Given the description of an element on the screen output the (x, y) to click on. 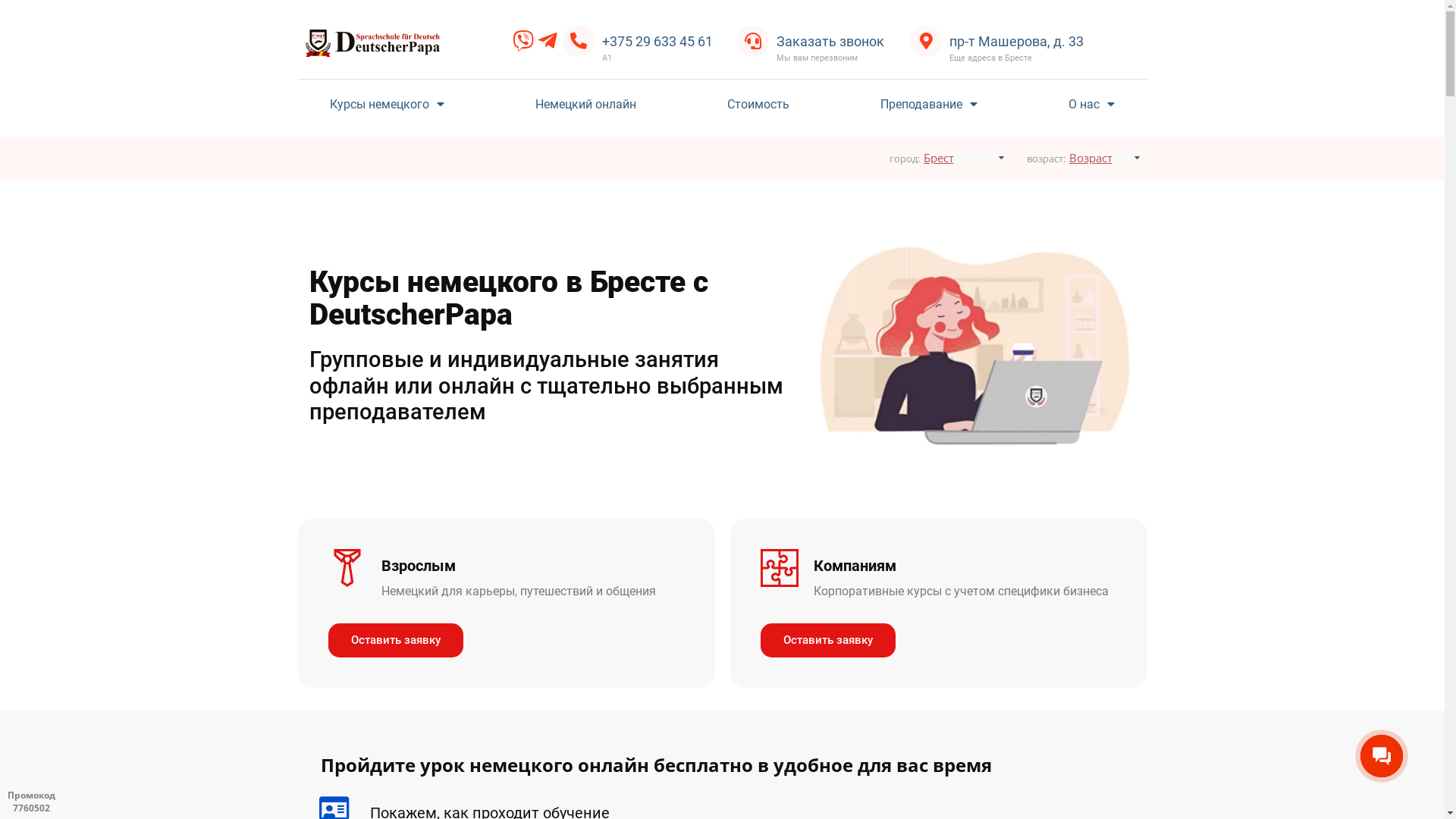
+375 29 633 45 61 Element type: text (657, 41)
